Given the description of an element on the screen output the (x, y) to click on. 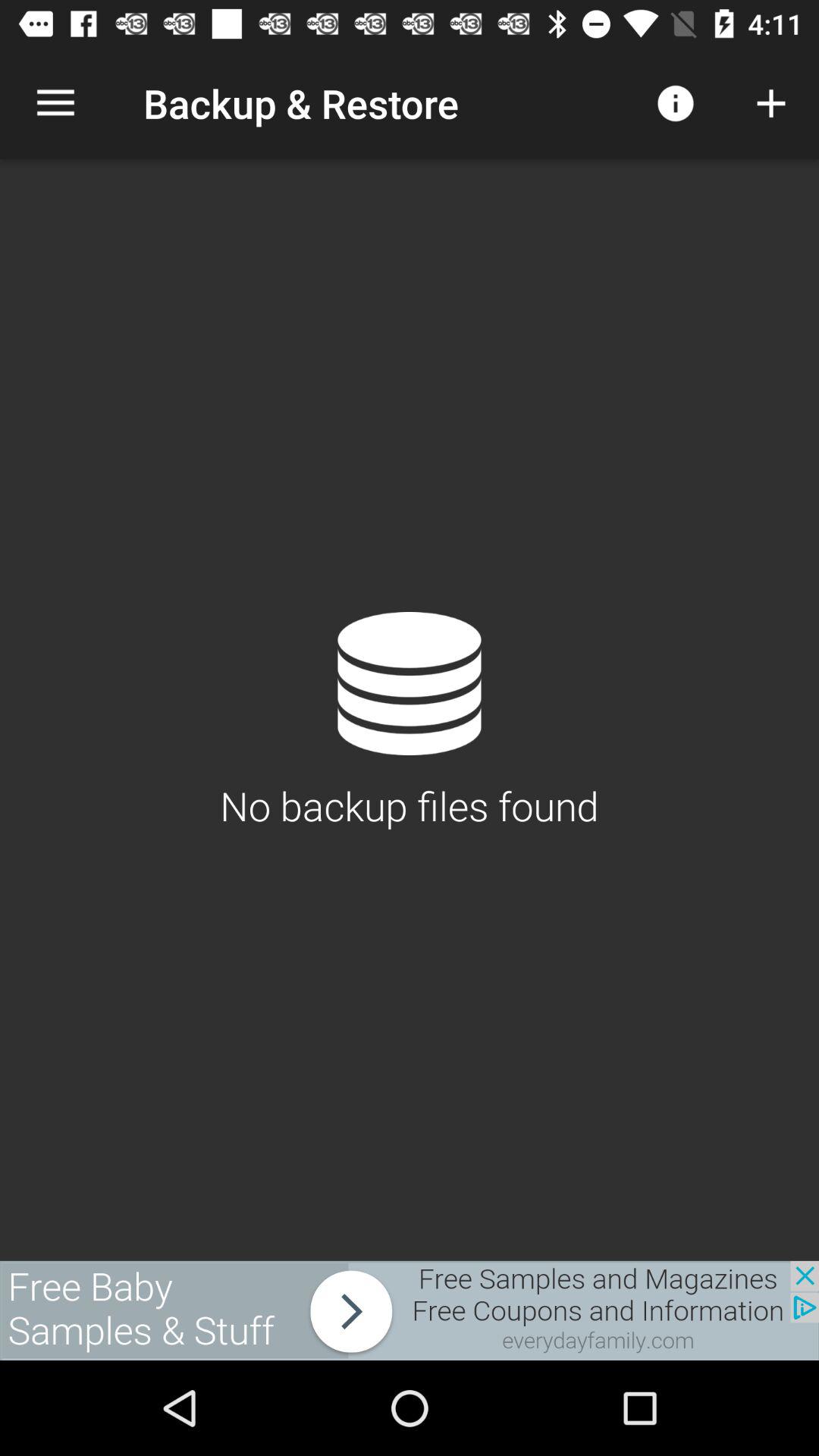
more information about an advertisement (409, 1310)
